Given the description of an element on the screen output the (x, y) to click on. 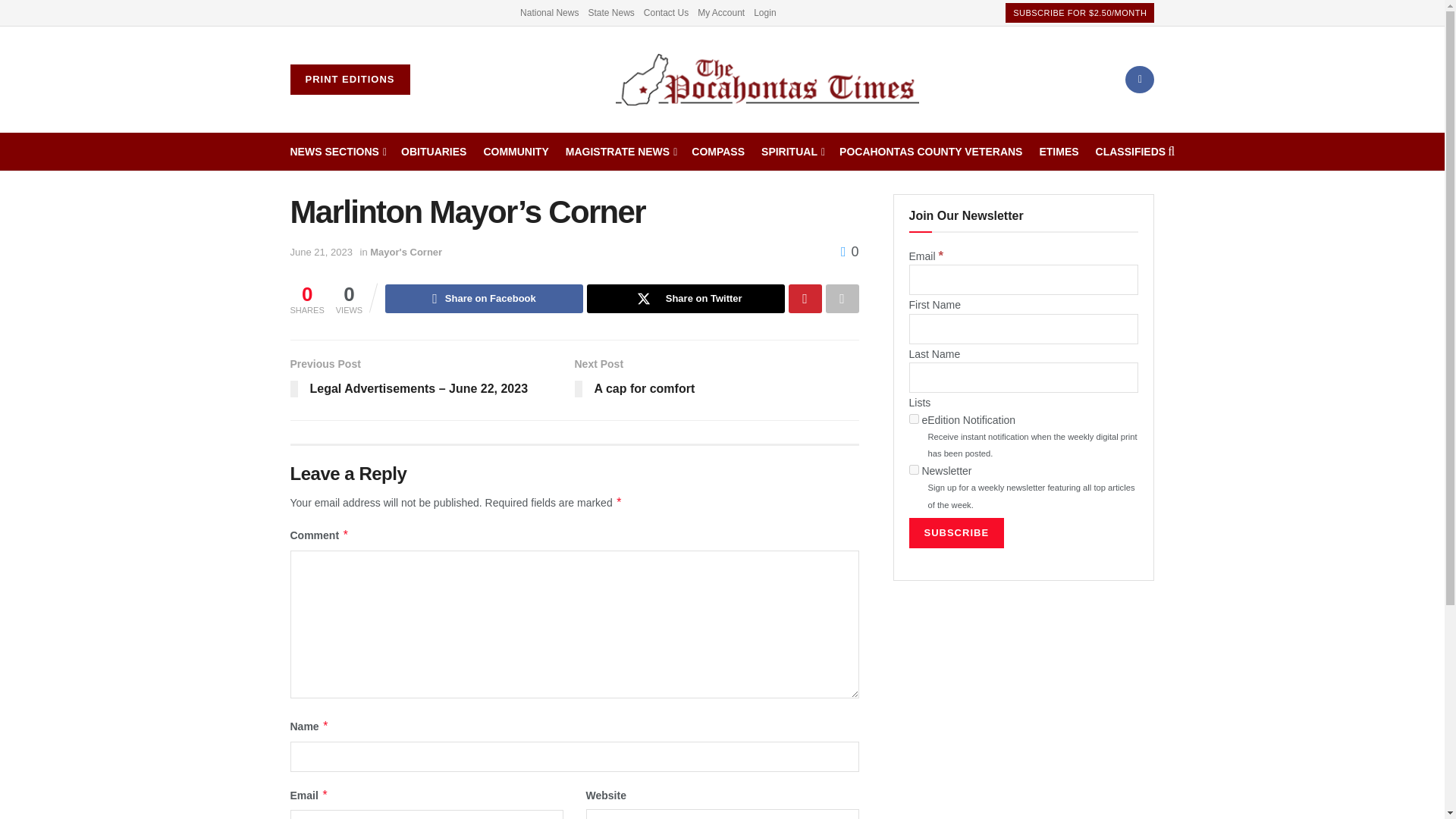
ETIMES (1058, 151)
POCAHONTAS COUNTY VETERANS (931, 151)
Subscribe (956, 532)
State News (610, 12)
CLASSIFIEDS (1131, 151)
MAGISTRATE NEWS (620, 151)
2 (913, 470)
NEWS SECTIONS (336, 151)
